Given the description of an element on the screen output the (x, y) to click on. 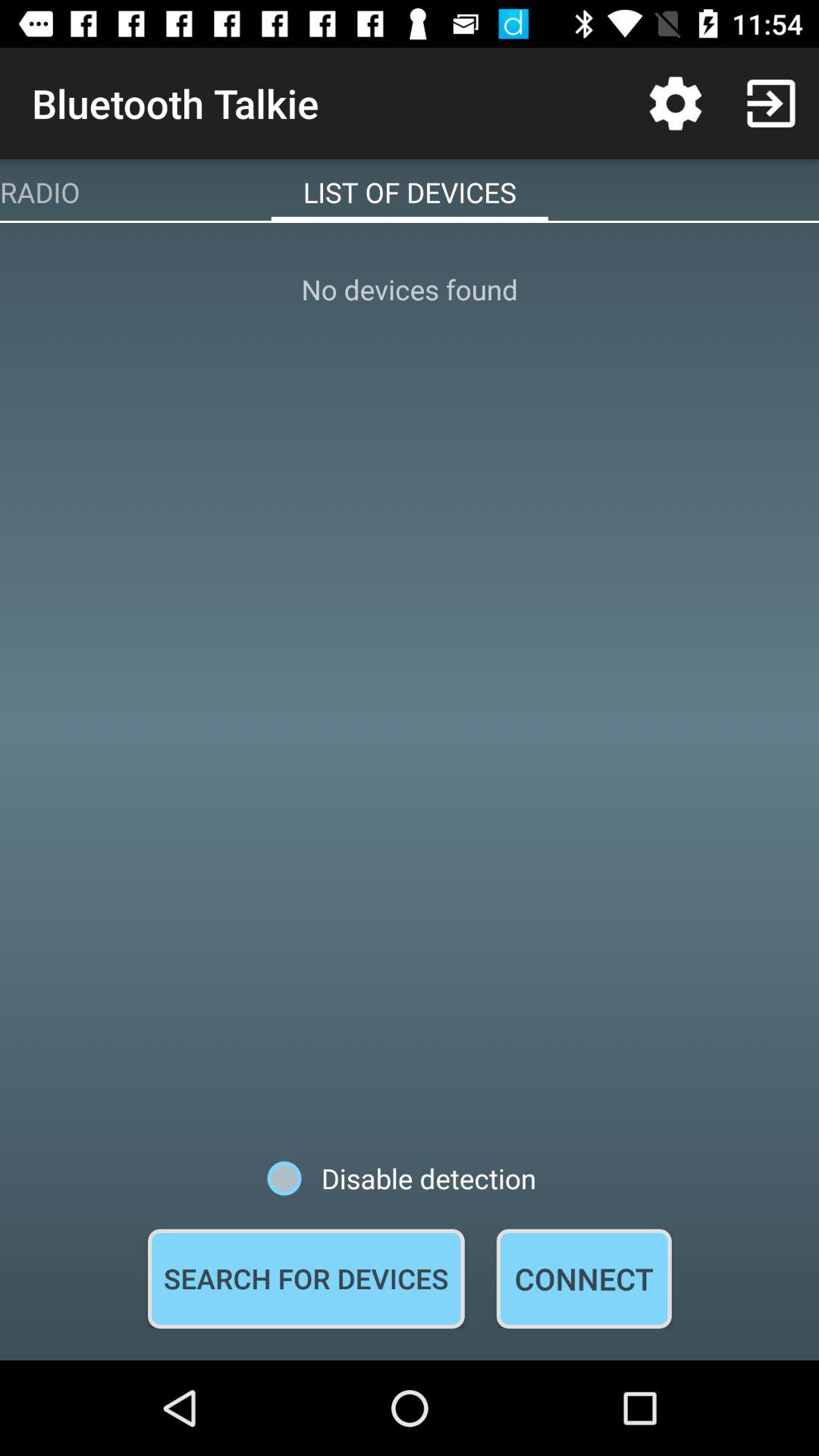
swipe to the connect (583, 1278)
